Given the description of an element on the screen output the (x, y) to click on. 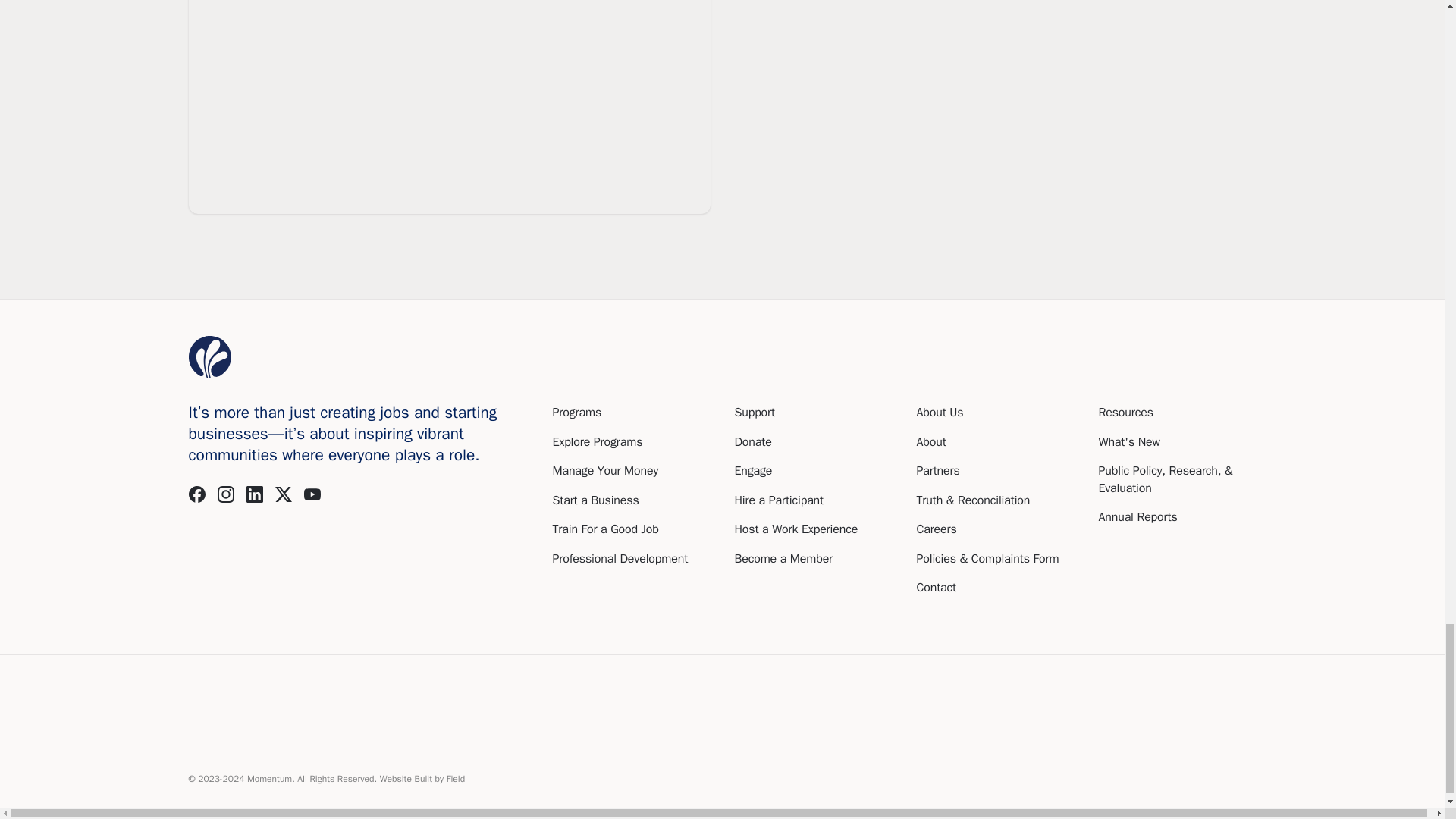
Professional Development (619, 558)
Explore Programs (596, 441)
Donate (752, 441)
Manage Your Money (604, 470)
Train For a Good Job (604, 529)
Start a Business (595, 500)
